Given the description of an element on the screen output the (x, y) to click on. 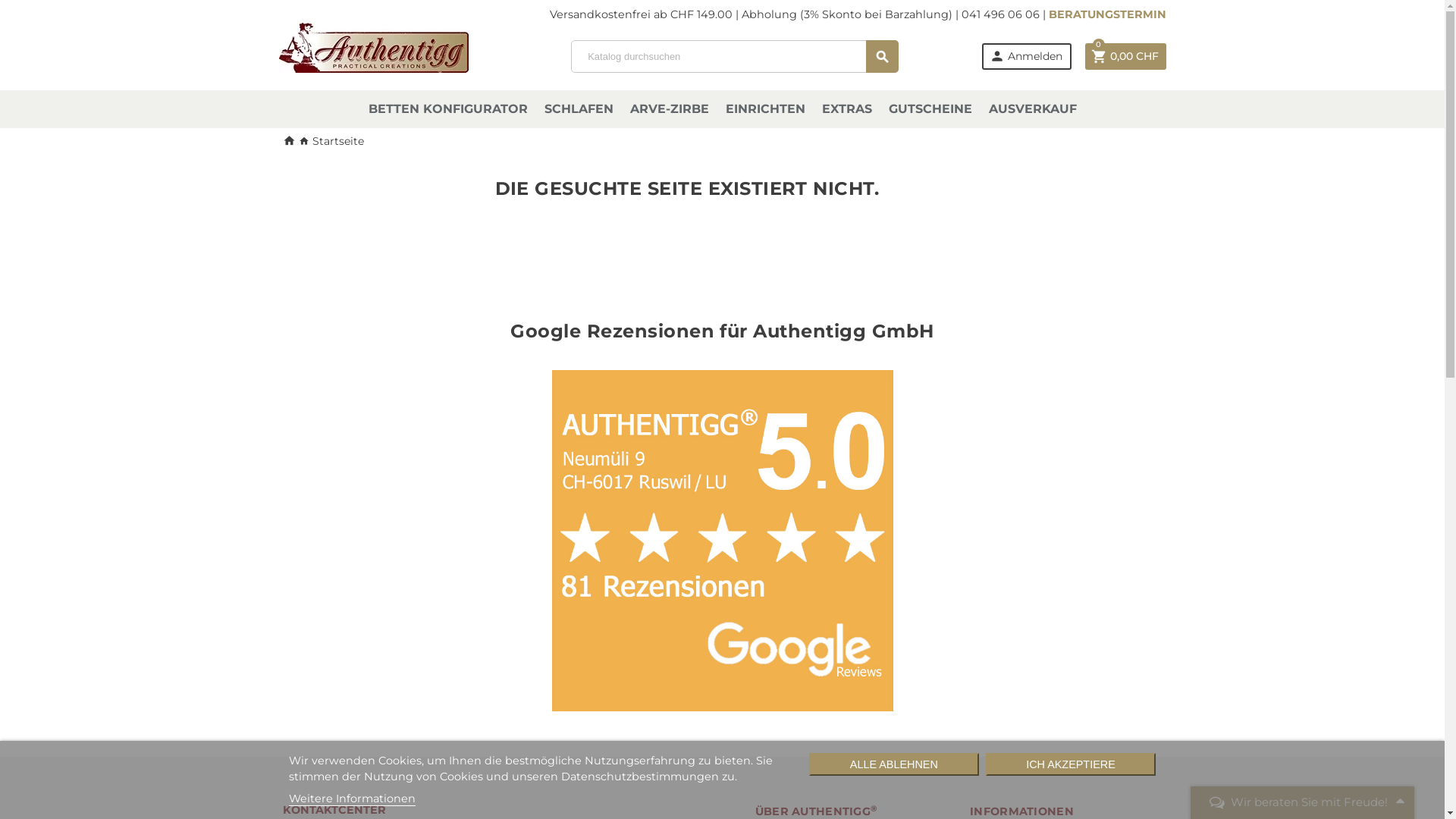
EINRICHTEN Element type: text (764, 109)
ALLE ABLEHNEN Element type: text (894, 764)
Authentigg GmbH Element type: hover (373, 43)
GUTSCHEINE Element type: text (930, 109)
EXTRAS Element type: text (846, 109)
Weitere Informationen Element type: text (351, 798)
ICH AKZEPTIERE Element type: text (1070, 764)
SCHLAFEN Element type: text (578, 109)
BETTEN KONFIGURATOR Element type: text (447, 109)
BERATUNGSTERMIN Element type: text (1106, 14)
ARVE-ZIRBE Element type: text (668, 109)
AUSVERKAUF Element type: text (1032, 109)
